Given the description of an element on the screen output the (x, y) to click on. 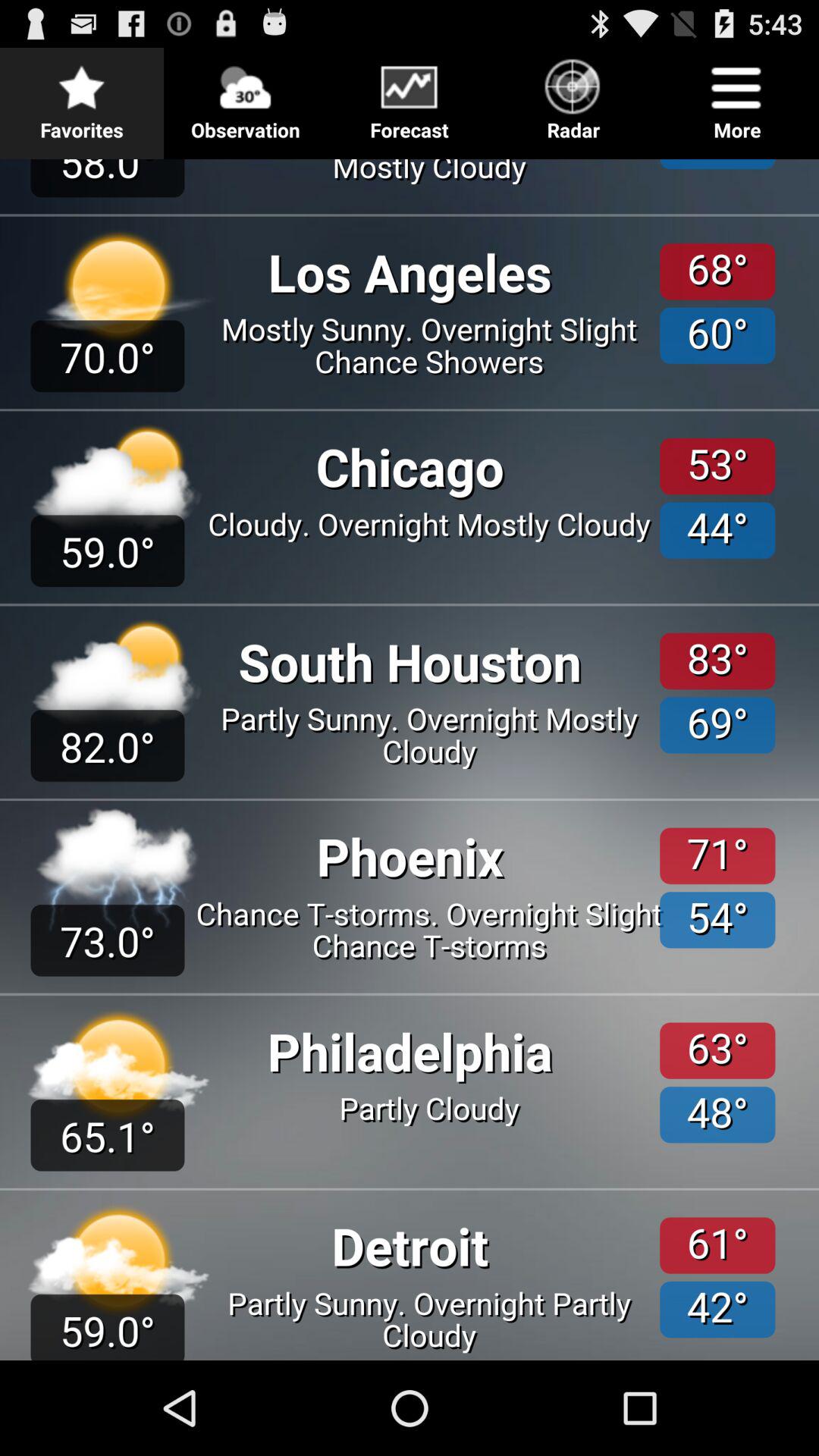
tap the radar (573, 95)
